Given the description of an element on the screen output the (x, y) to click on. 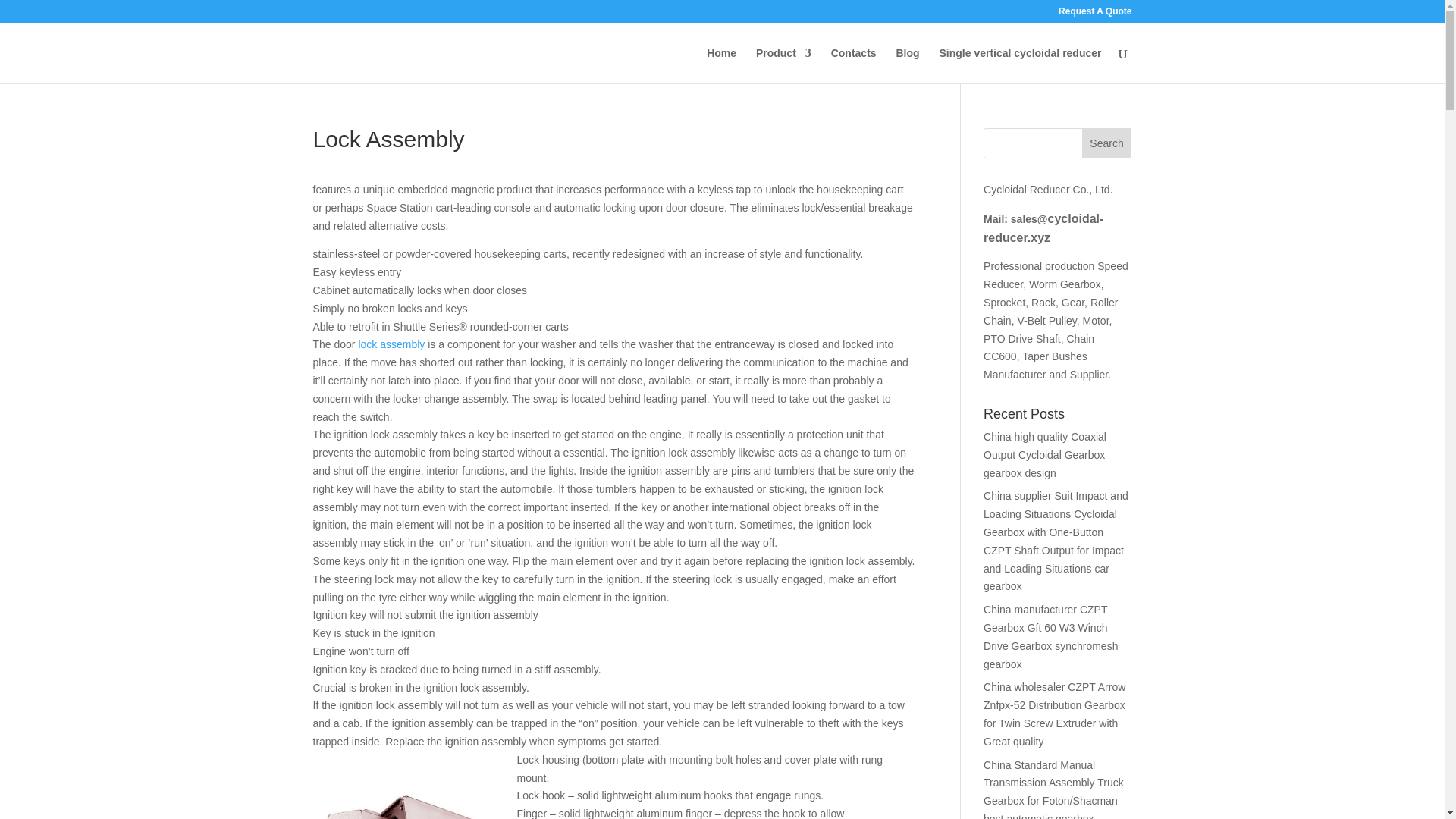
Single vertical cycloidal reducer (1019, 65)
Product (782, 65)
lock assembly (391, 344)
Search (1106, 142)
Search (1106, 142)
Contacts (853, 65)
Request A Quote (1094, 14)
